Given the description of an element on the screen output the (x, y) to click on. 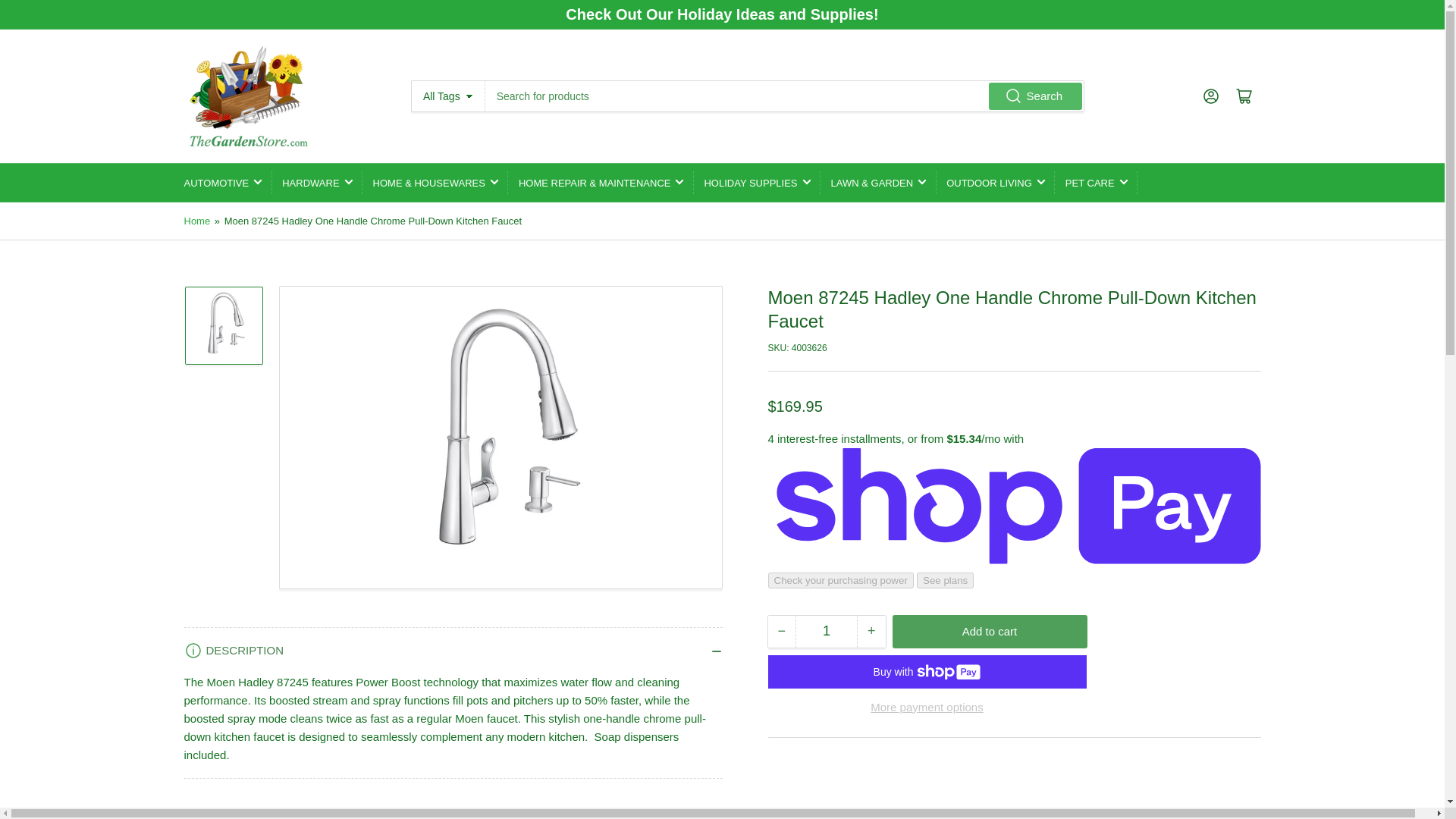
Load image 1 in gallery view (223, 336)
Check Out Our Holiday Ideas and Supplies! (721, 13)
Log in (1210, 96)
Open mini cart (1243, 96)
Search (1035, 95)
1 (825, 631)
Load image 1 in gallery view (223, 436)
